Given the description of an element on the screen output the (x, y) to click on. 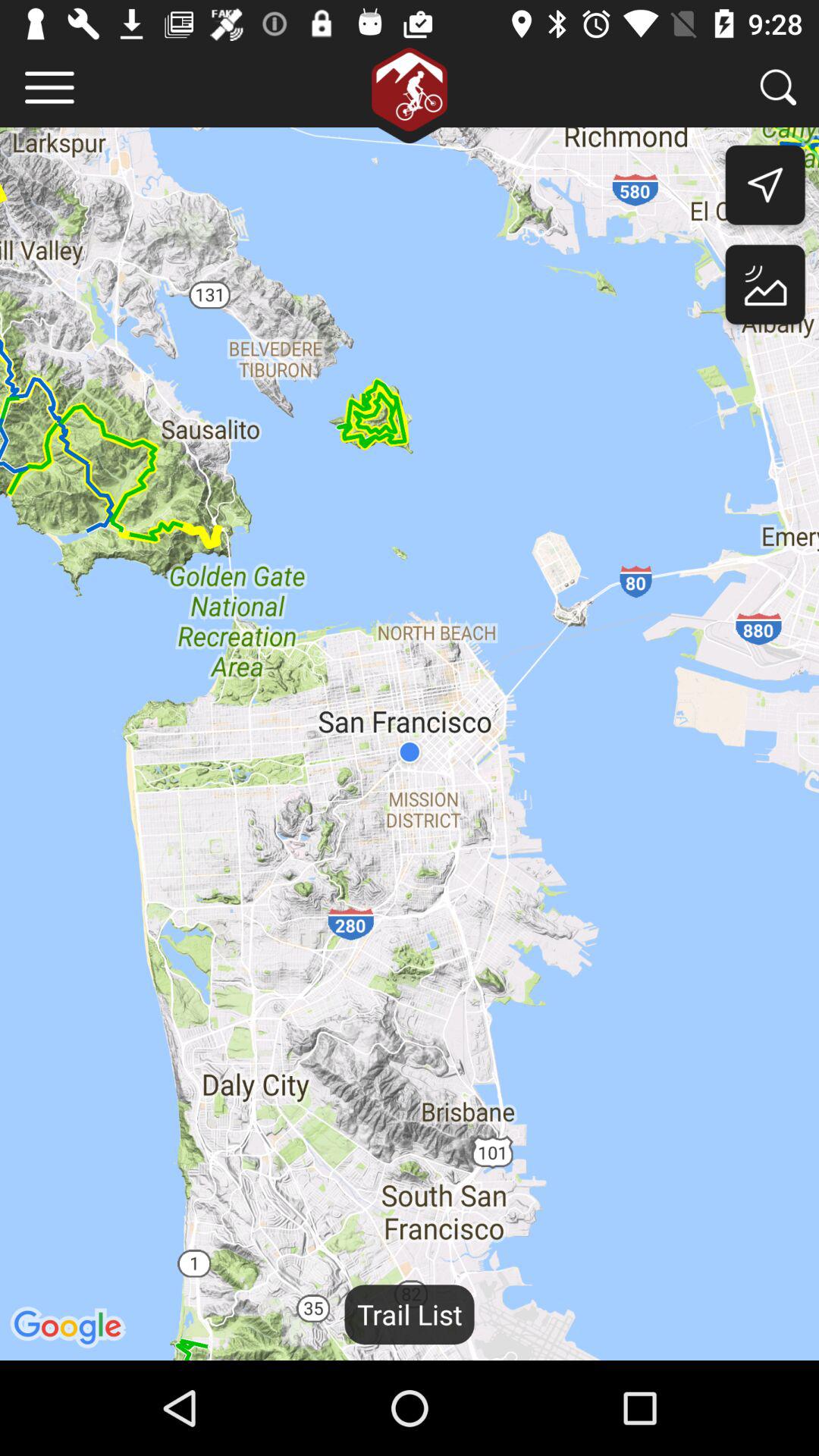
open menu list (49, 87)
